Given the description of an element on the screen output the (x, y) to click on. 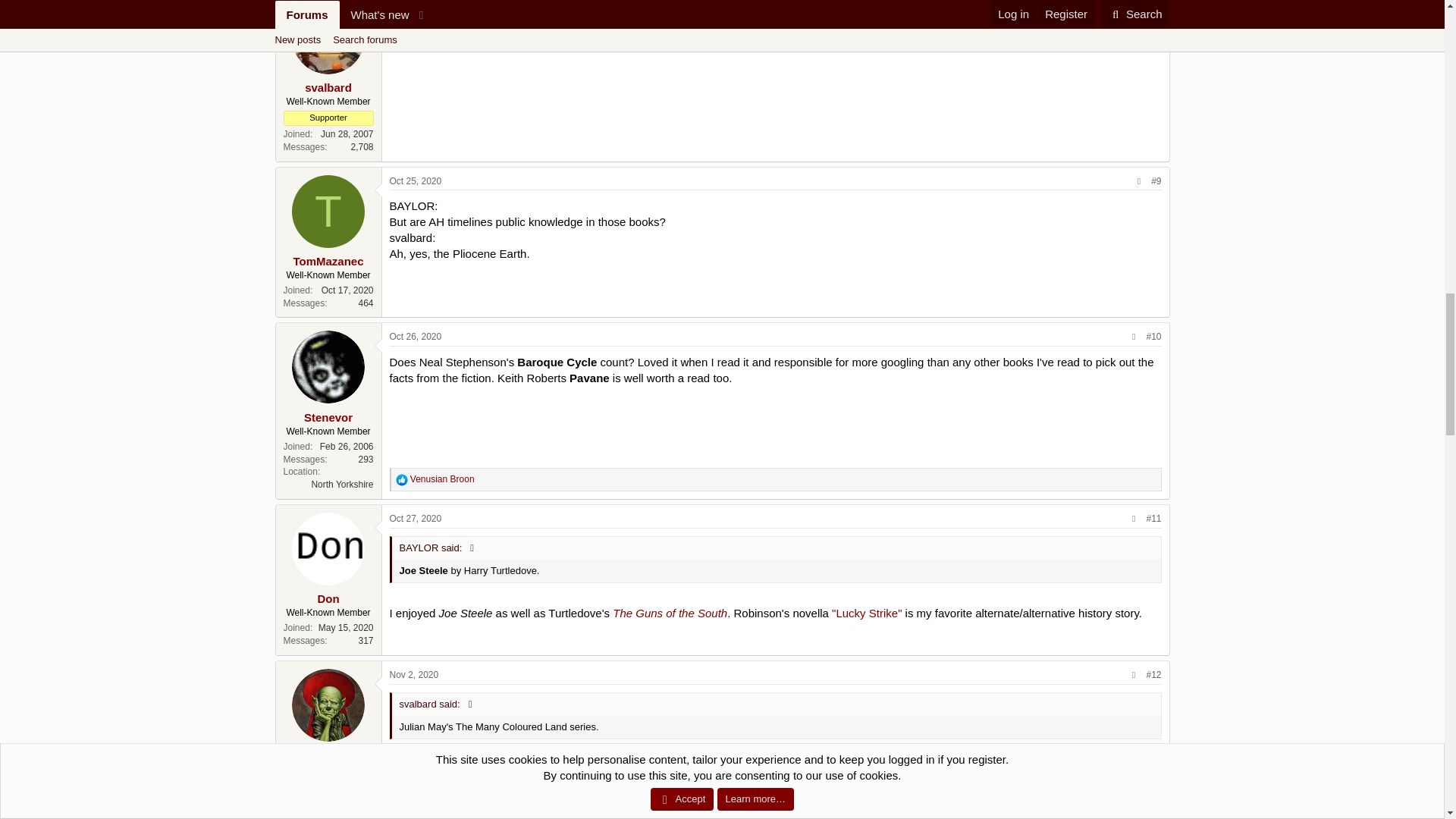
Oct 26, 2020 at 8:20 PM (416, 336)
Oct 25, 2020 at 5:02 PM (416, 7)
Like (401, 480)
Oct 25, 2020 at 5:29 PM (416, 181)
